Given the description of an element on the screen output the (x, y) to click on. 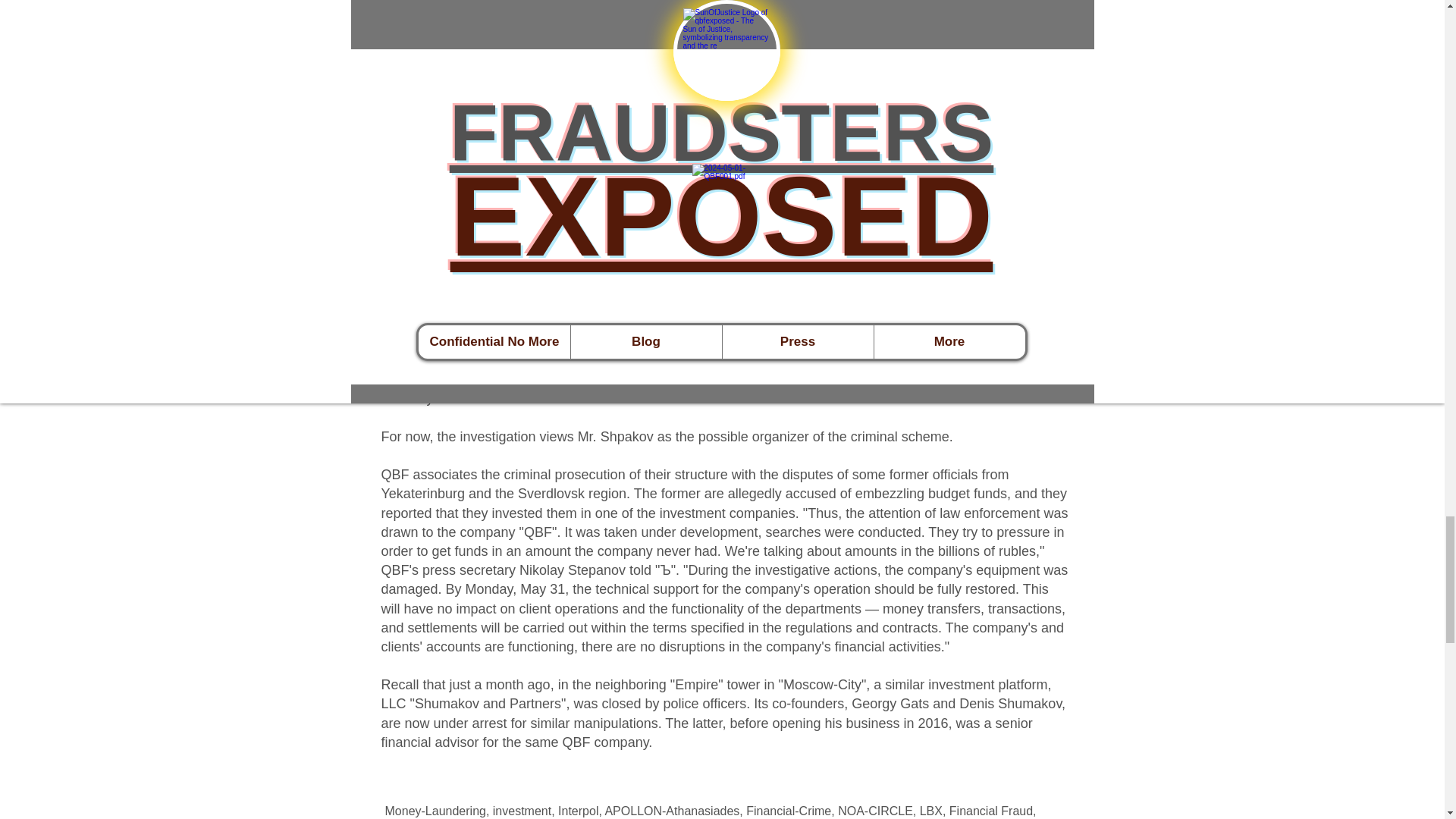
Apollon Athanasiades (694, 111)
Linda Athanasiadou (930, 207)
Apollon Athanasiades (762, 207)
Linda Athanasiadou (861, 111)
